Given the description of an element on the screen output the (x, y) to click on. 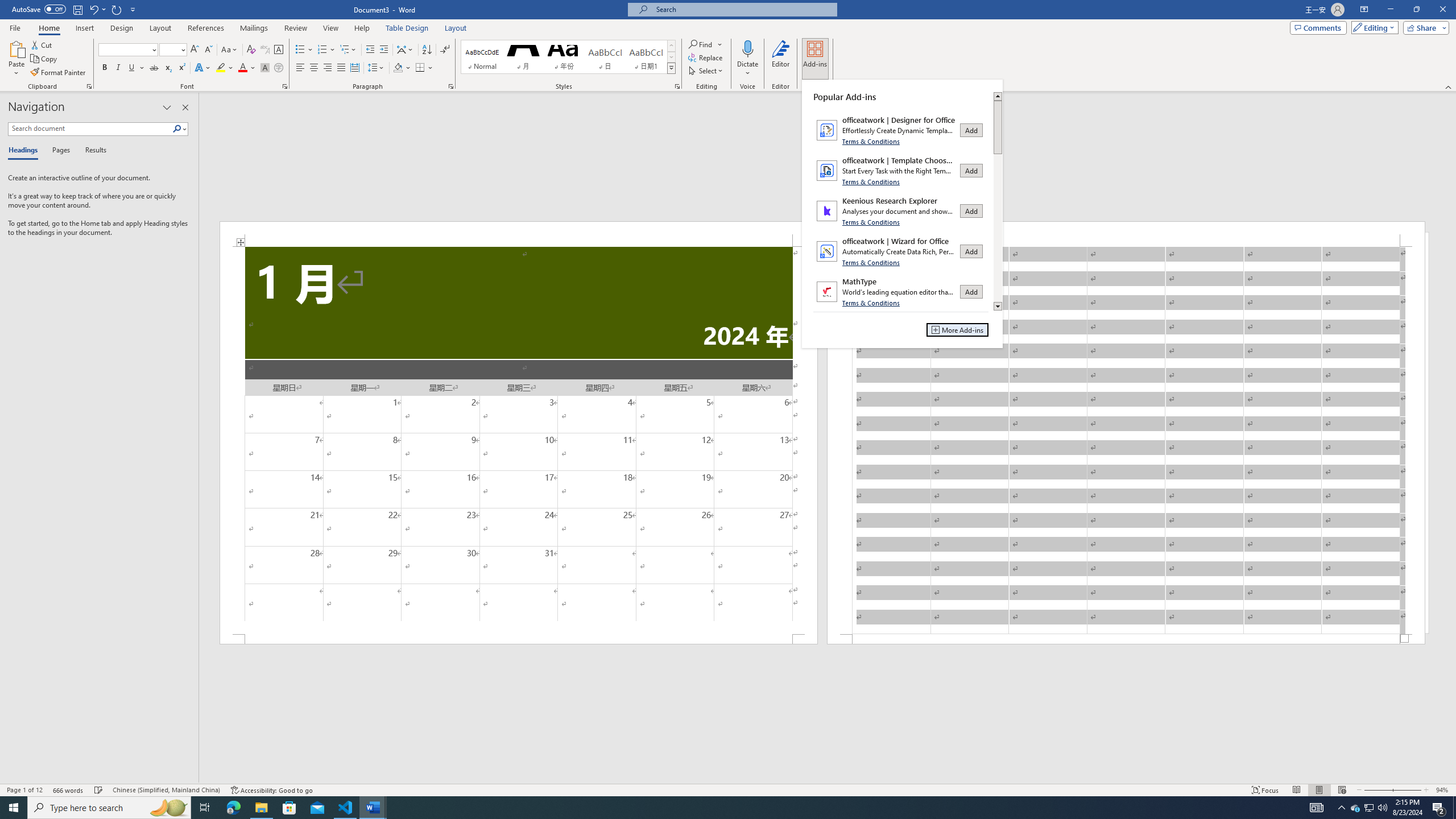
Repeat Grow Font (117, 9)
officeatwork | Designer for Office (900, 130)
